Given the description of an element on the screen output the (x, y) to click on. 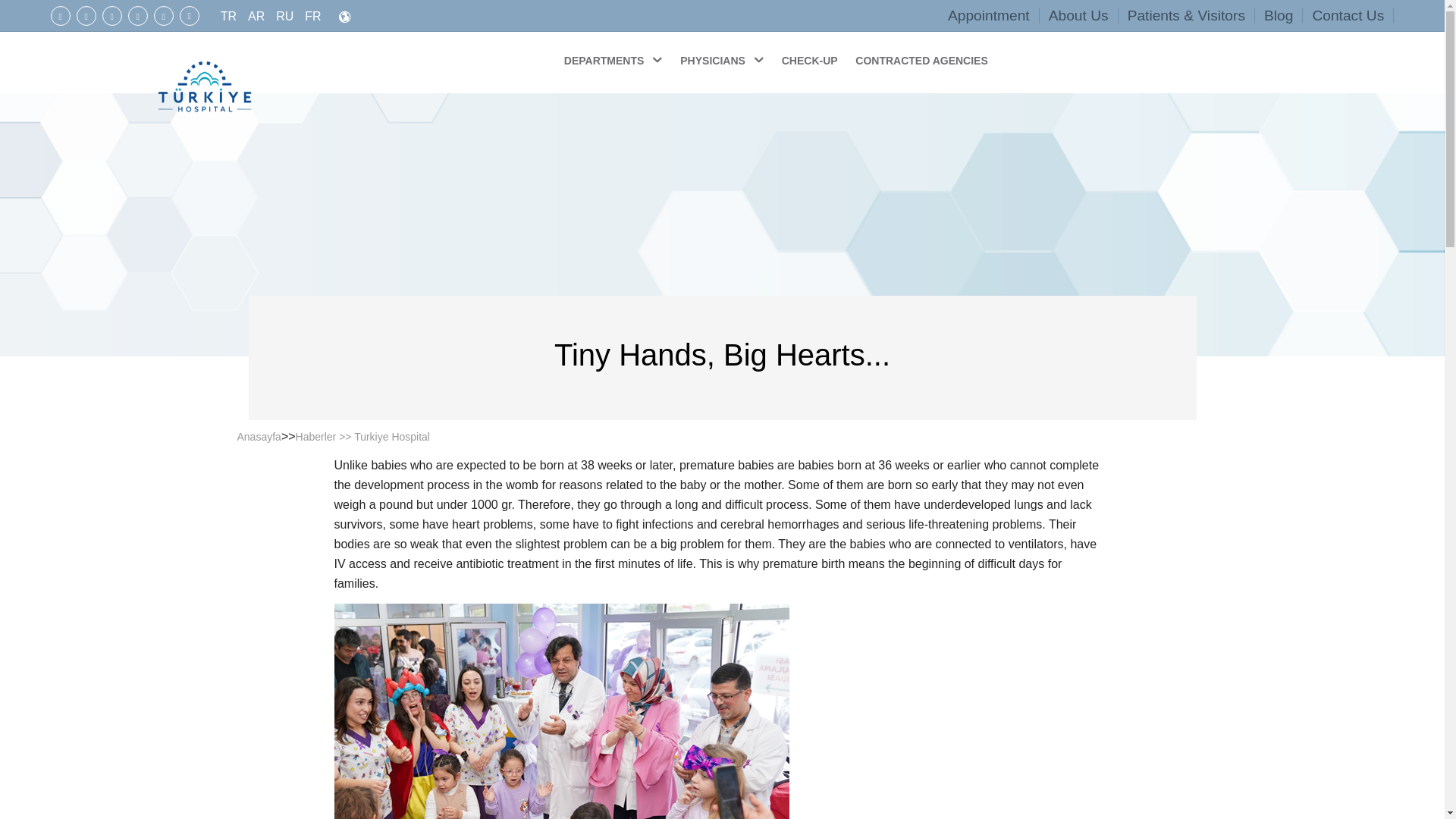
Appointment (989, 15)
Contact Us (1348, 15)
Blog (1279, 15)
DEPARTMENTS (614, 59)
About Us (1078, 15)
